Given the description of an element on the screen output the (x, y) to click on. 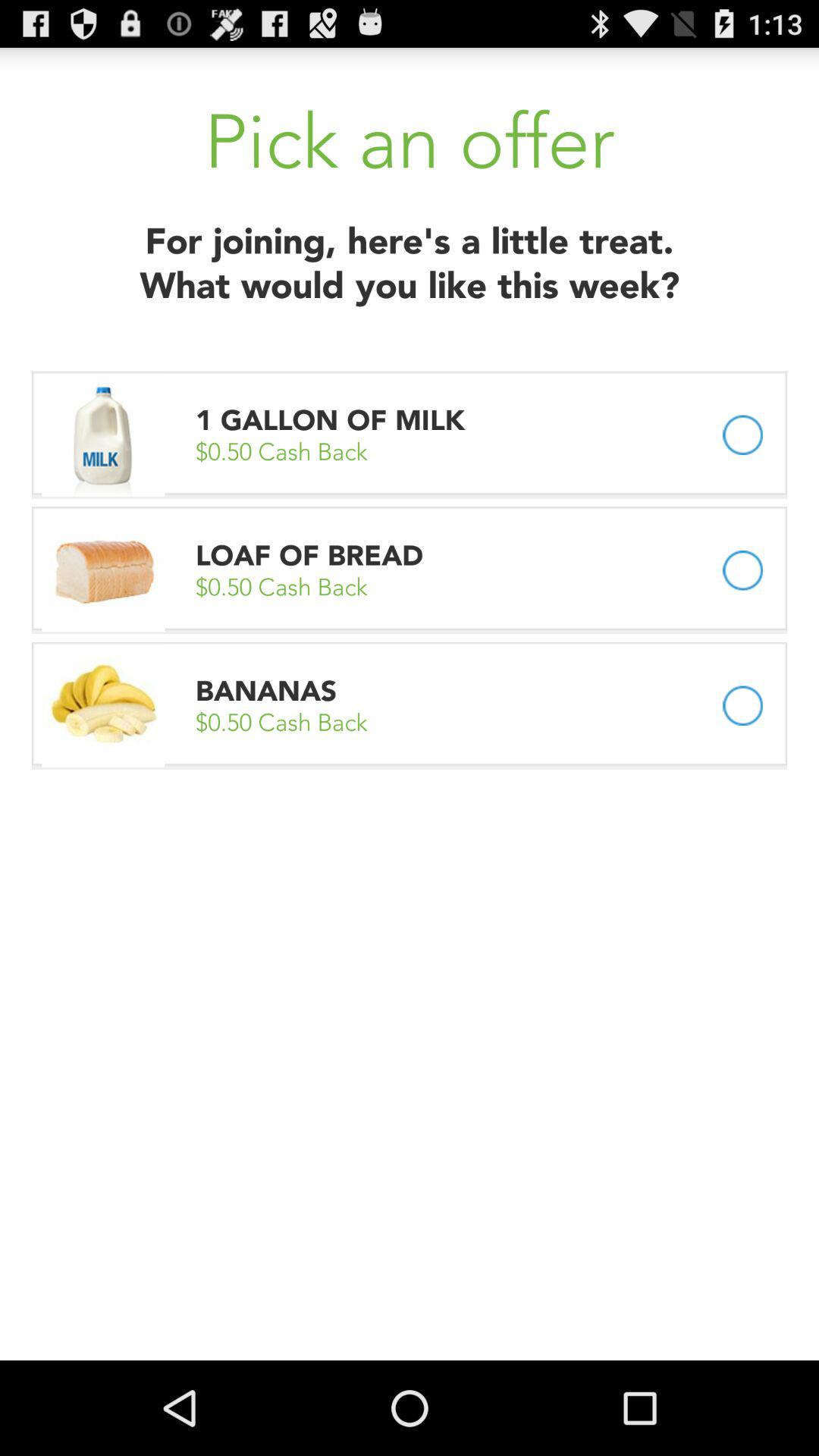
turn on the icon below for joining here (334, 420)
